Given the description of an element on the screen output the (x, y) to click on. 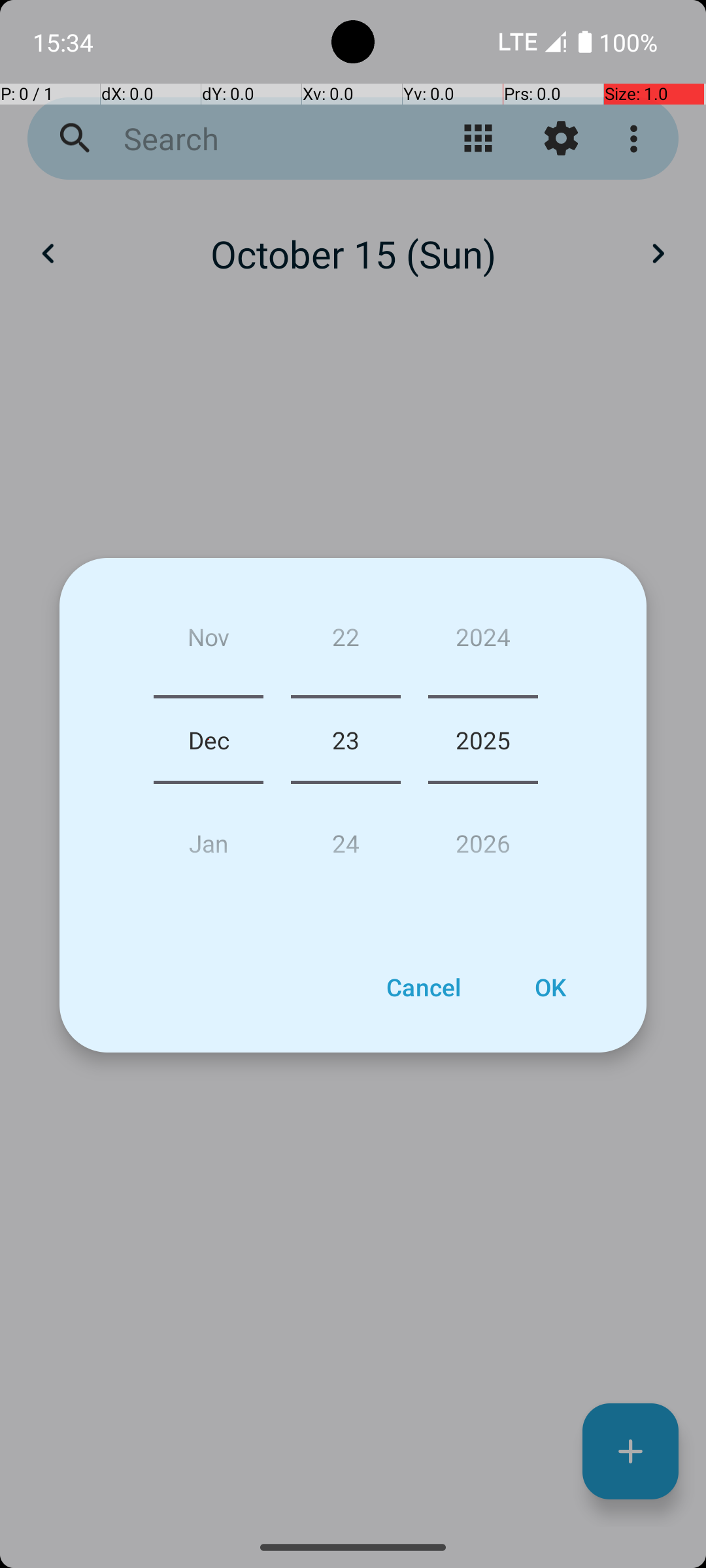
Dec Element type: android.widget.EditText (208, 739)
Jan Element type: android.widget.Button (208, 837)
